Given the description of an element on the screen output the (x, y) to click on. 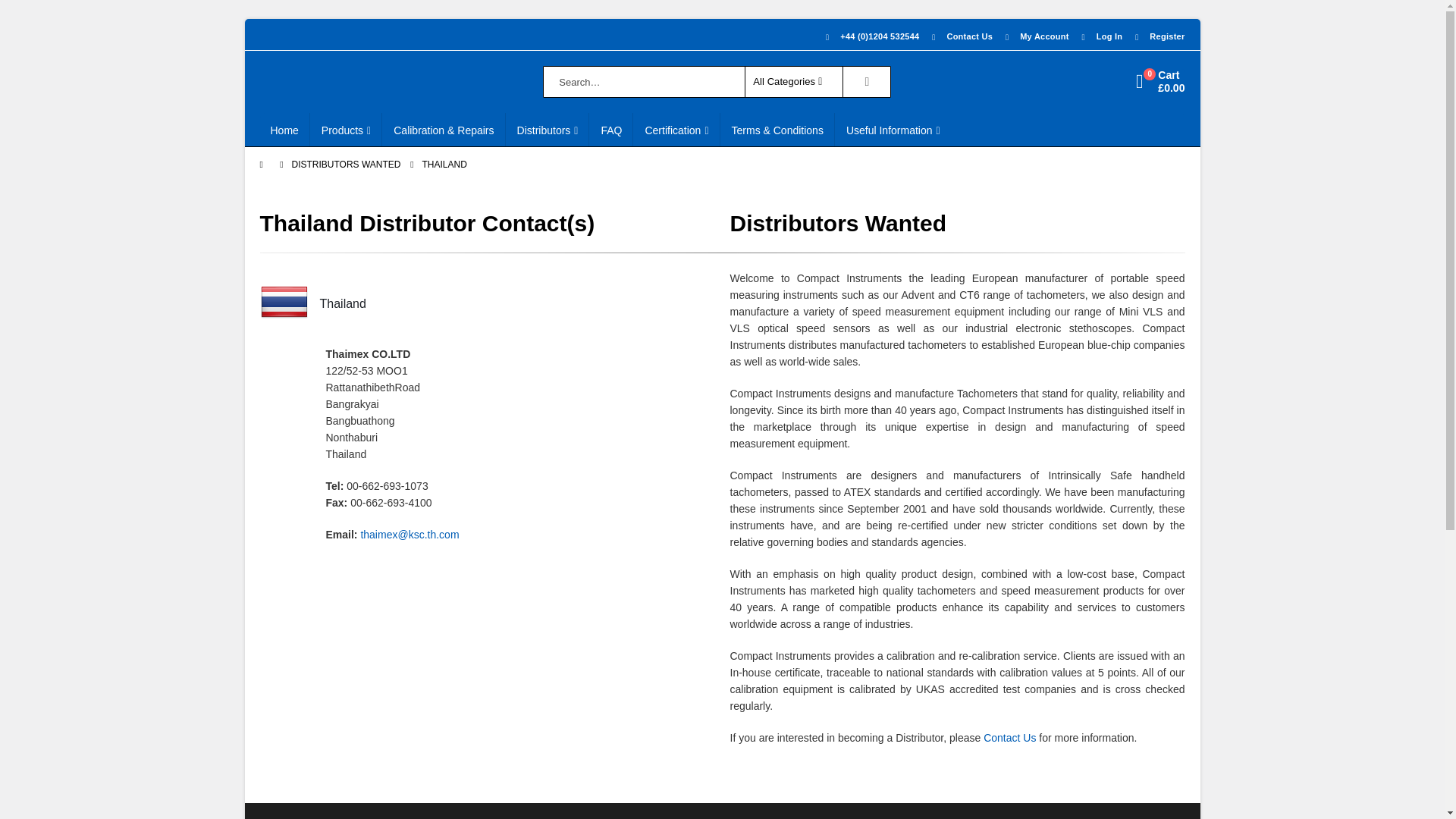
My Account (1034, 35)
Log In (1099, 35)
Contact Us (959, 35)
Register (1155, 35)
Search (866, 81)
